Given the description of an element on the screen output the (x, y) to click on. 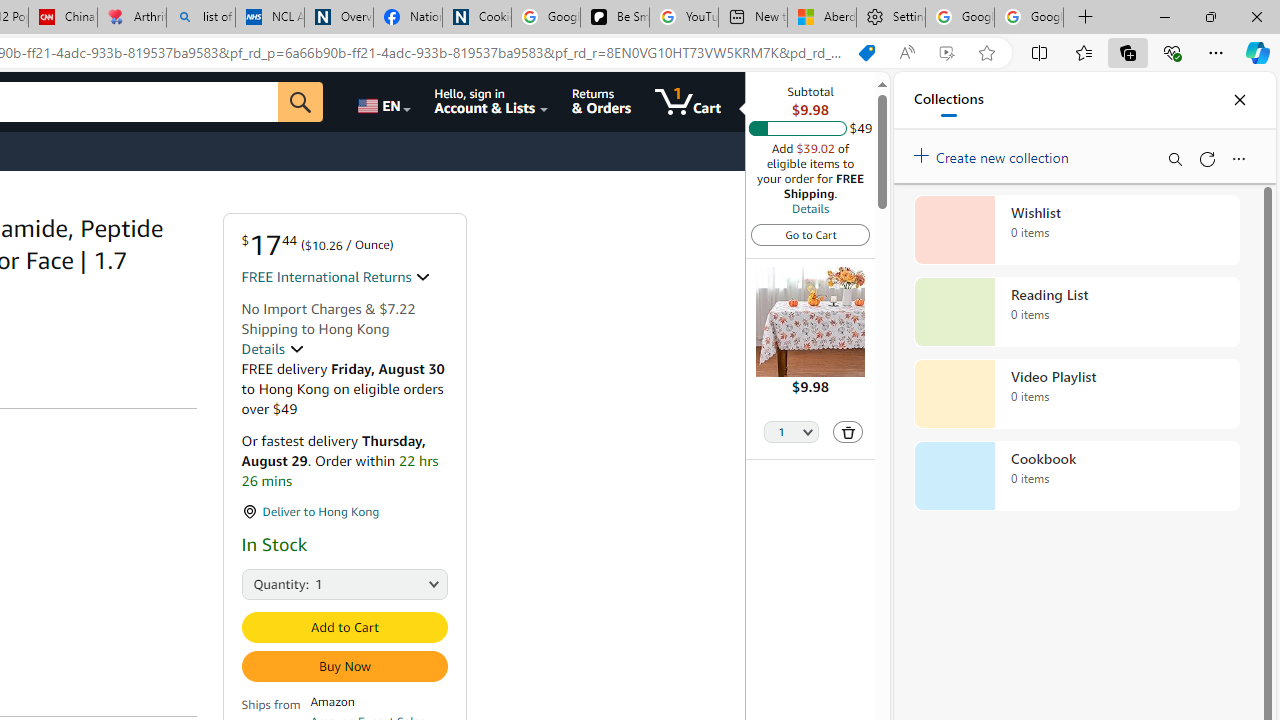
Add to Cart (343, 627)
Cookbook collection, 0 items (1076, 475)
Video Playlist collection, 0 items (1076, 394)
Settings (890, 17)
Collections (1128, 52)
More options menu (1238, 158)
Read aloud this page (Ctrl+Shift+U) (906, 53)
Search (1174, 158)
Hello, sign in Account & Lists (491, 101)
Cookies (476, 17)
NCL Adult Asthma Inhaler Choice Guideline (269, 17)
Wishlist collection, 0 items (1076, 229)
Minimize (1164, 16)
